Given the description of an element on the screen output the (x, y) to click on. 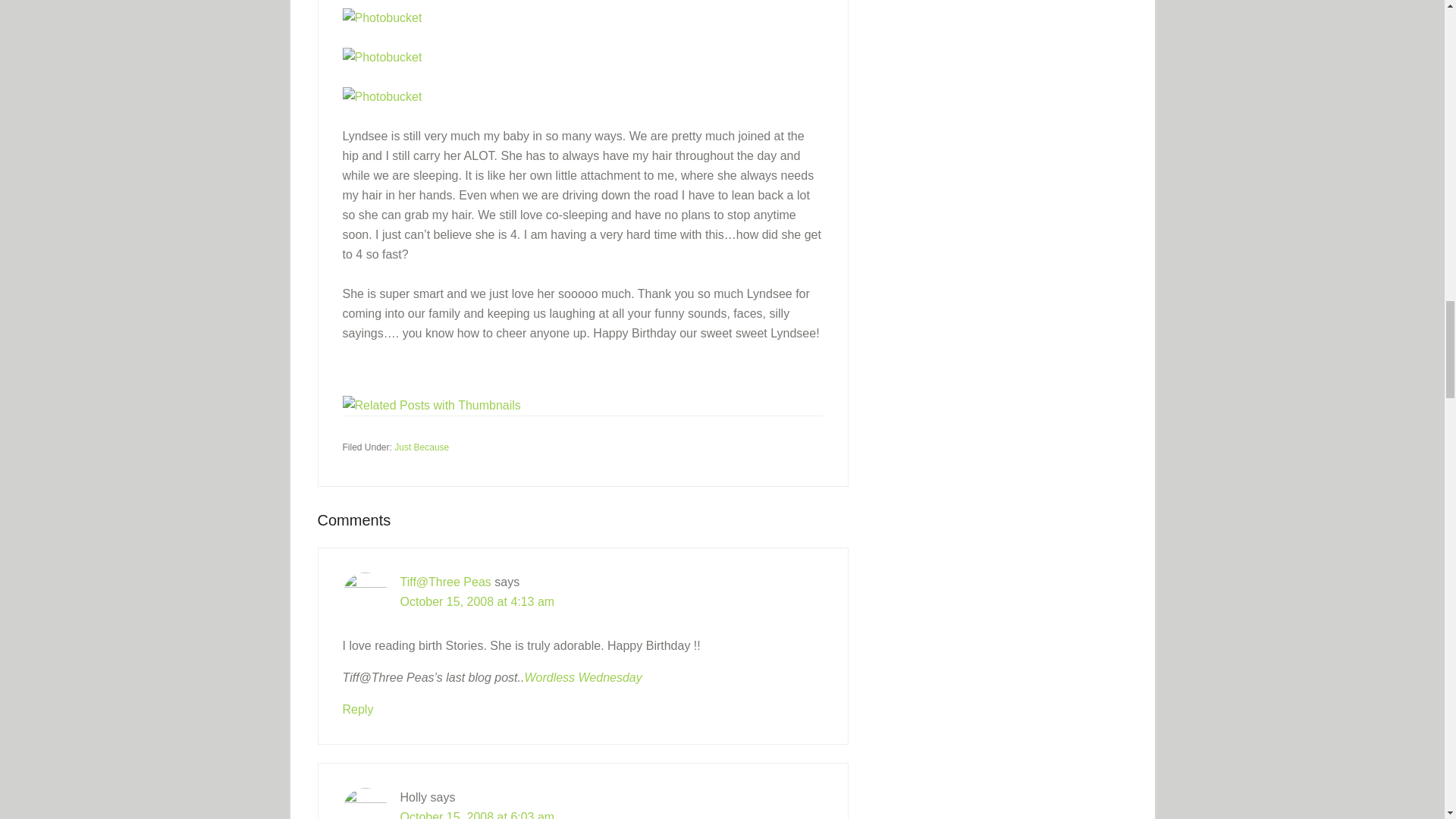
Reply (358, 707)
October 15, 2008 at 4:13 am (477, 600)
October 15, 2008 at 6:03 am (477, 814)
Wordless Wednesday (583, 676)
Just Because (421, 447)
